Given the description of an element on the screen output the (x, y) to click on. 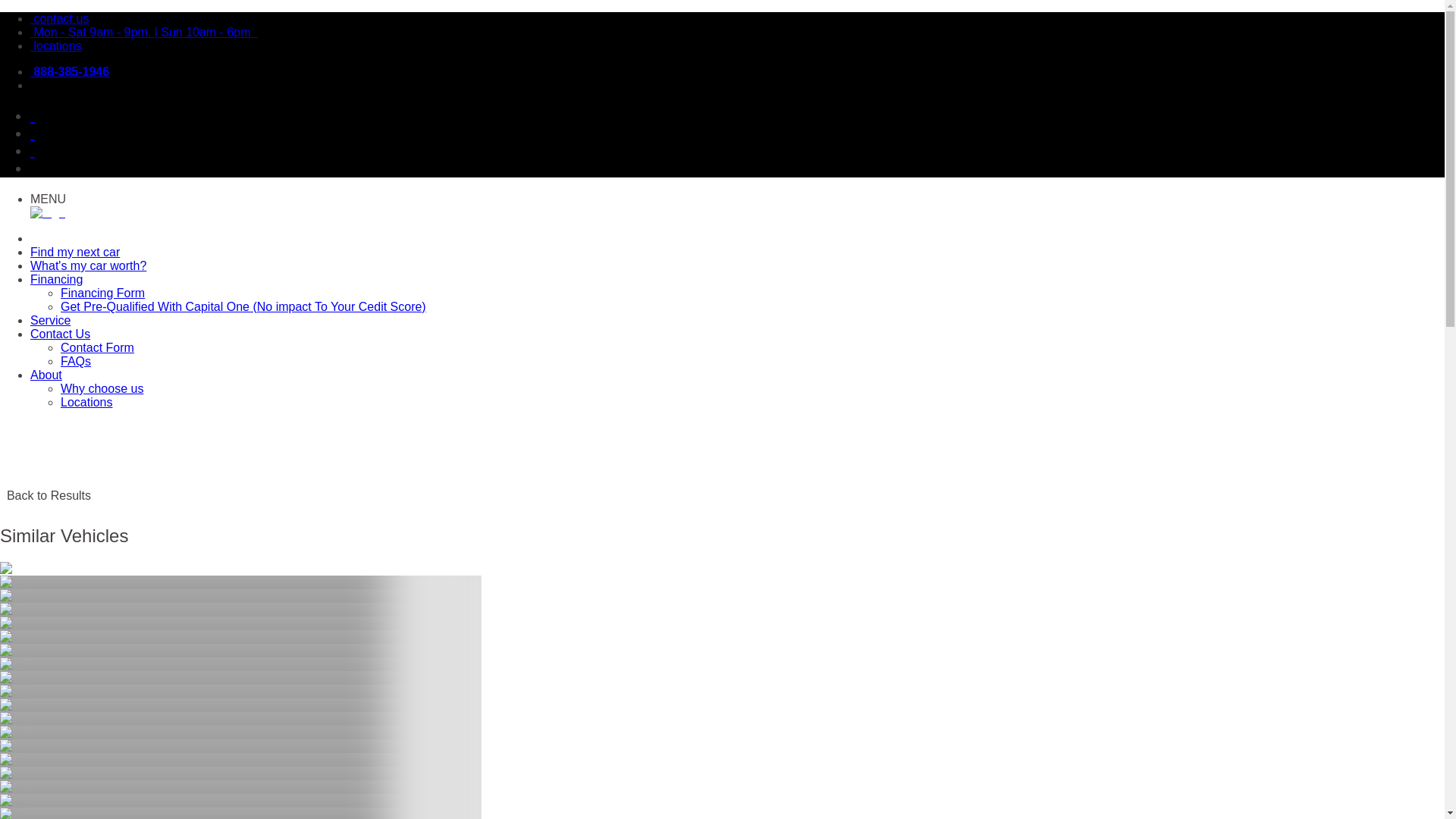
FAQs (75, 360)
Service (49, 319)
What's my car worth? (88, 265)
 888-385-1946 (69, 71)
Why choose us (101, 388)
 locations (55, 45)
Financing Form (102, 292)
 contact us (59, 18)
Contact Form (97, 347)
Find my next car (74, 251)
Locations (87, 401)
